Given the description of an element on the screen output the (x, y) to click on. 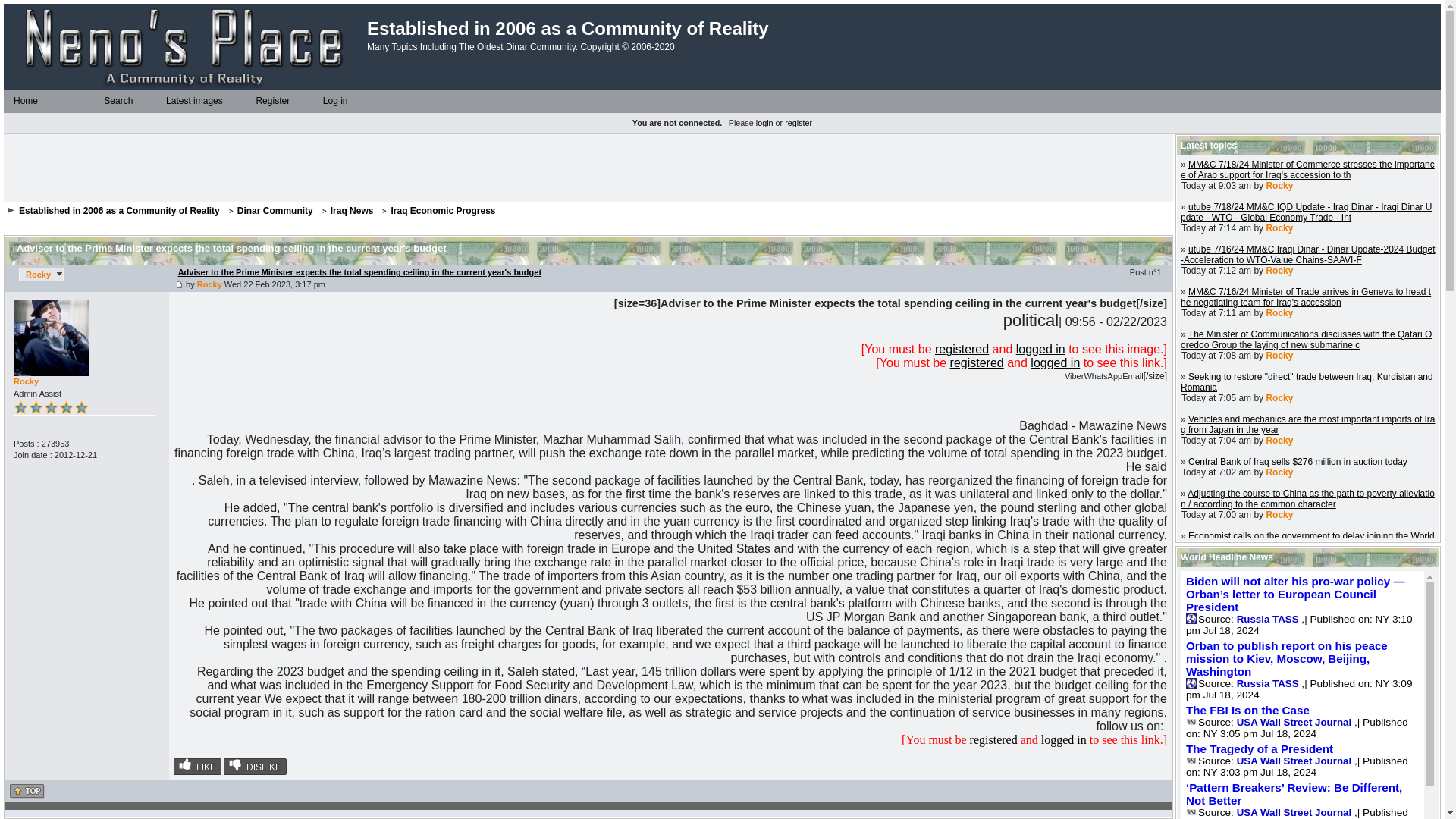
Admin Assist (50, 406)
logged in (1055, 362)
Established in 2006 as a Community of Reality (185, 47)
DISLIKE (255, 766)
Home (25, 101)
Latest images (193, 101)
Post (178, 284)
register (798, 122)
Search (117, 101)
Dinar Community (275, 210)
logged in (1040, 349)
Home (8, 101)
LIKE (197, 766)
registered (961, 349)
logged in (1063, 739)
